Given the description of an element on the screen output the (x, y) to click on. 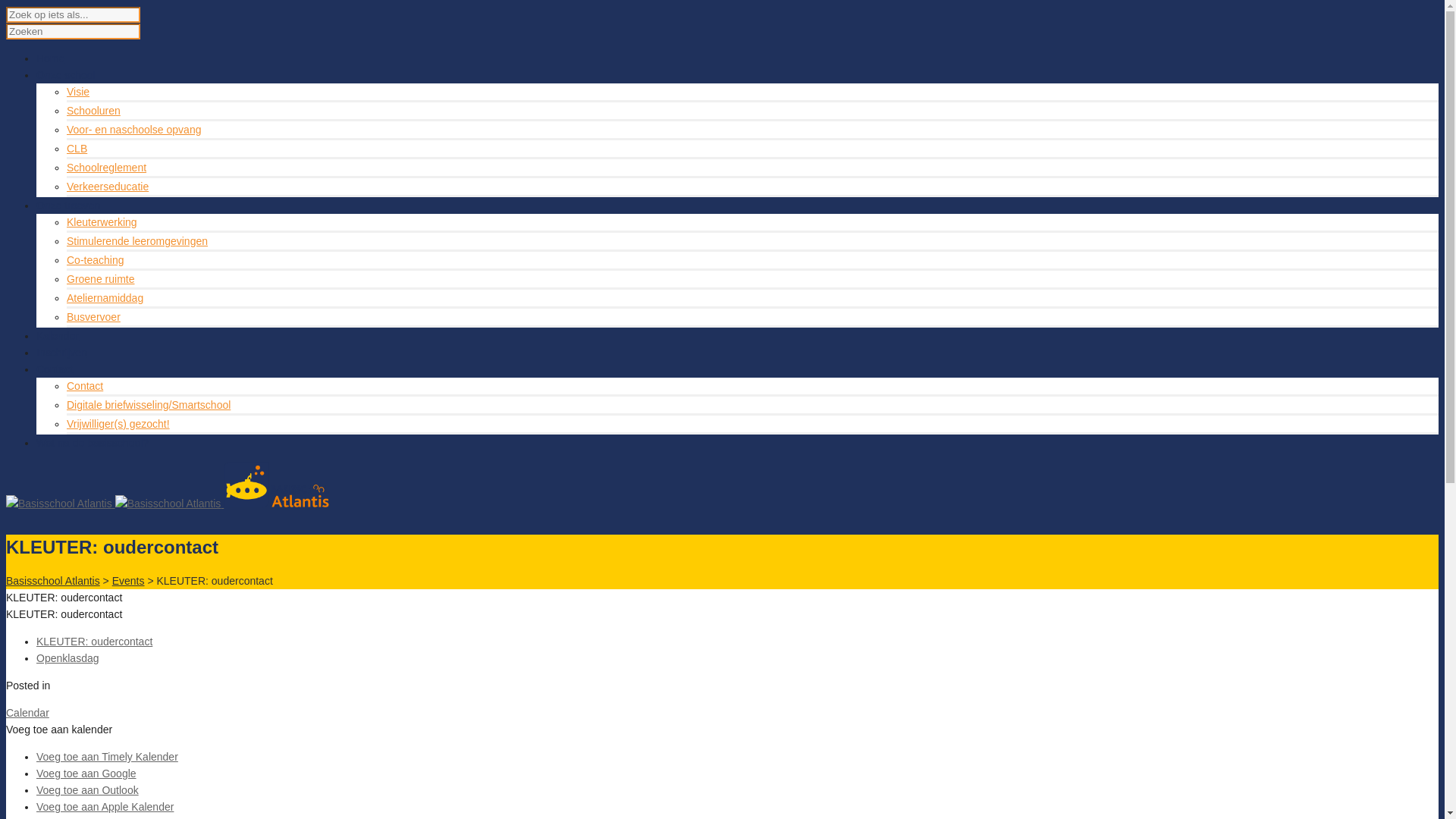
Home Element type: text (50, 58)
Home Element type: text (50, 565)
Voor- en naschoolse opvang Element type: text (133, 129)
Visie Element type: text (77, 599)
Ateliernamiddag Element type: text (104, 805)
Kalender Element type: text (57, 335)
Busvervoer Element type: text (93, 316)
Onze troeven Element type: text (68, 712)
Schooluren Element type: text (93, 617)
KLEUTER: oudercontact Element type: text (94, 641)
Vrijwilliger(s) gezocht! Element type: text (117, 423)
Basisschool Atlantis Element type: text (53, 580)
Kleuterwerking Element type: text (101, 729)
CLB Element type: text (76, 655)
Verkeerseducatie Element type: text (107, 186)
Schoolreglement Element type: text (106, 674)
Schooluren Element type: text (93, 110)
Contact Element type: text (84, 385)
Onze school Element type: text (65, 582)
Inschrijven Element type: text (61, 352)
Verkeerseducatie Element type: text (107, 693)
Voeg toe aan Outlook Element type: text (87, 790)
Wat na de basisschool? Element type: text (92, 442)
Events Element type: text (128, 580)
Groene ruimte Element type: text (100, 279)
Co-teaching Element type: text (95, 260)
Calendar Element type: text (27, 712)
Openklasdag Element type: text (67, 658)
Contact Element type: text (54, 369)
Schoolreglement Element type: text (106, 167)
Groene ruimte Element type: text (100, 786)
Ateliernamiddag Element type: text (104, 297)
Voeg toe aan Apple Kalender Element type: text (104, 806)
Voeg toe aan Timely Kalender Element type: text (107, 756)
Voeg toe aan Google Element type: text (86, 773)
Onze school Element type: text (65, 75)
Visie Element type: text (77, 91)
Voor- en naschoolse opvang Element type: text (133, 636)
Stimulerende leeromgevingen Element type: text (136, 748)
Digitale briefwisseling/Smartschool Element type: text (148, 404)
Co-teaching Element type: text (95, 767)
Onze troeven Element type: text (68, 205)
CLB Element type: text (76, 148)
Stimulerende leeromgevingen Element type: text (136, 241)
Kleuterwerking Element type: text (101, 222)
